Given the description of an element on the screen output the (x, y) to click on. 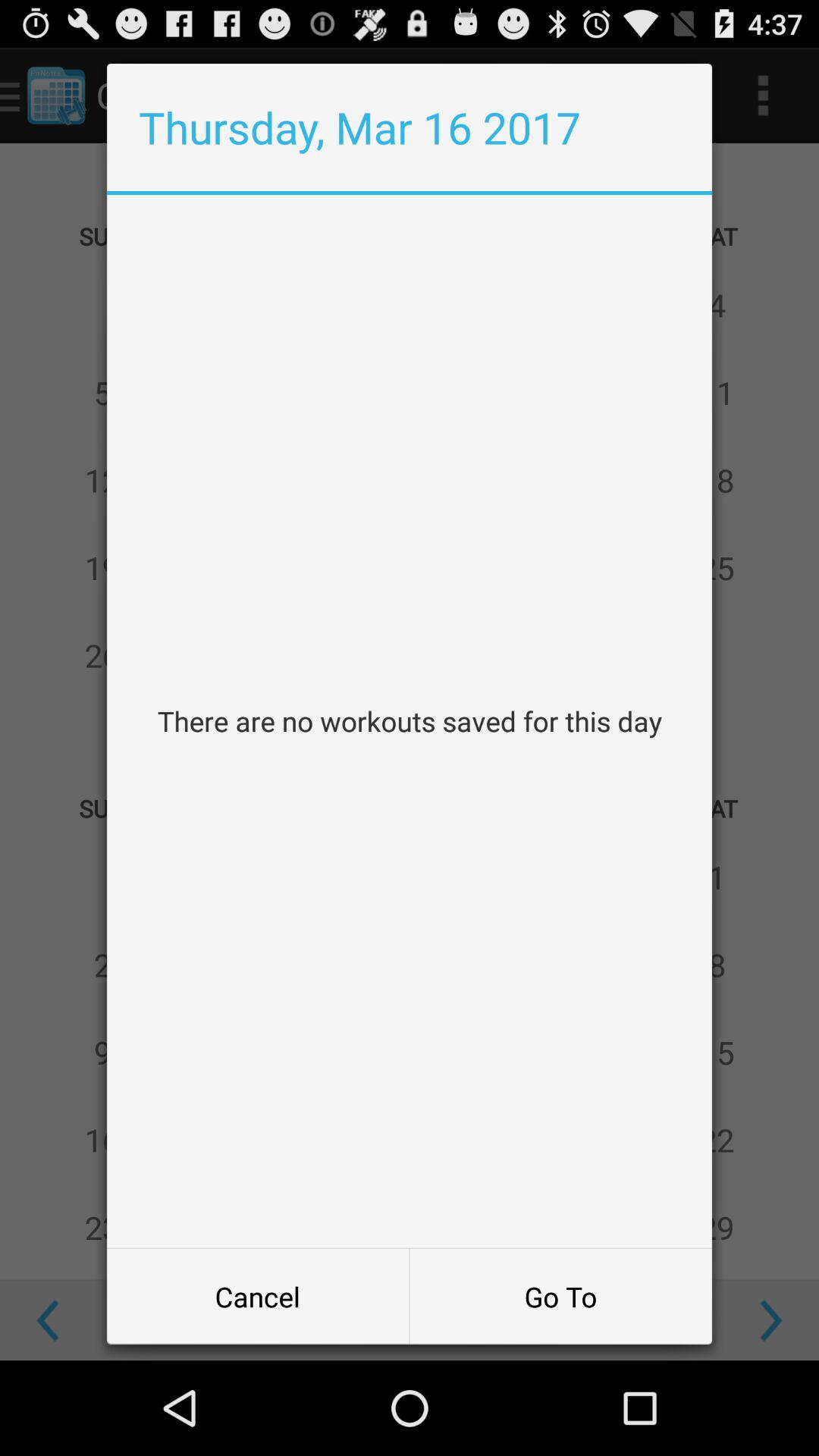
tap button next to the cancel (561, 1296)
